Given the description of an element on the screen output the (x, y) to click on. 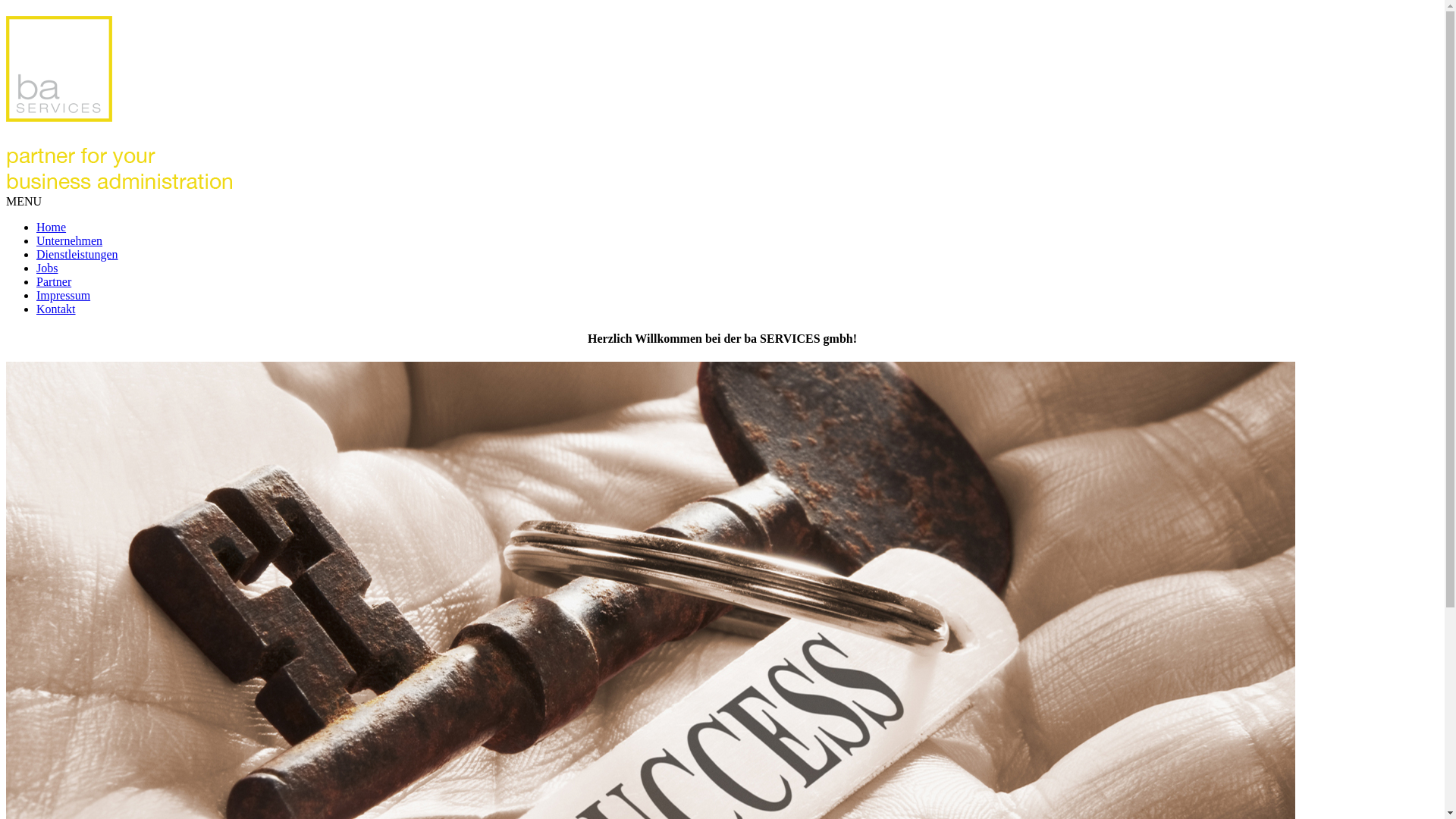
Kontakt Element type: text (55, 308)
Jobs Element type: text (46, 267)
Home Element type: text (50, 226)
Dienstleistungen Element type: text (77, 253)
Partner Element type: text (53, 281)
MENU Element type: text (23, 200)
Unternehmen Element type: text (69, 240)
Impressum Element type: text (63, 294)
